Given the description of an element on the screen output the (x, y) to click on. 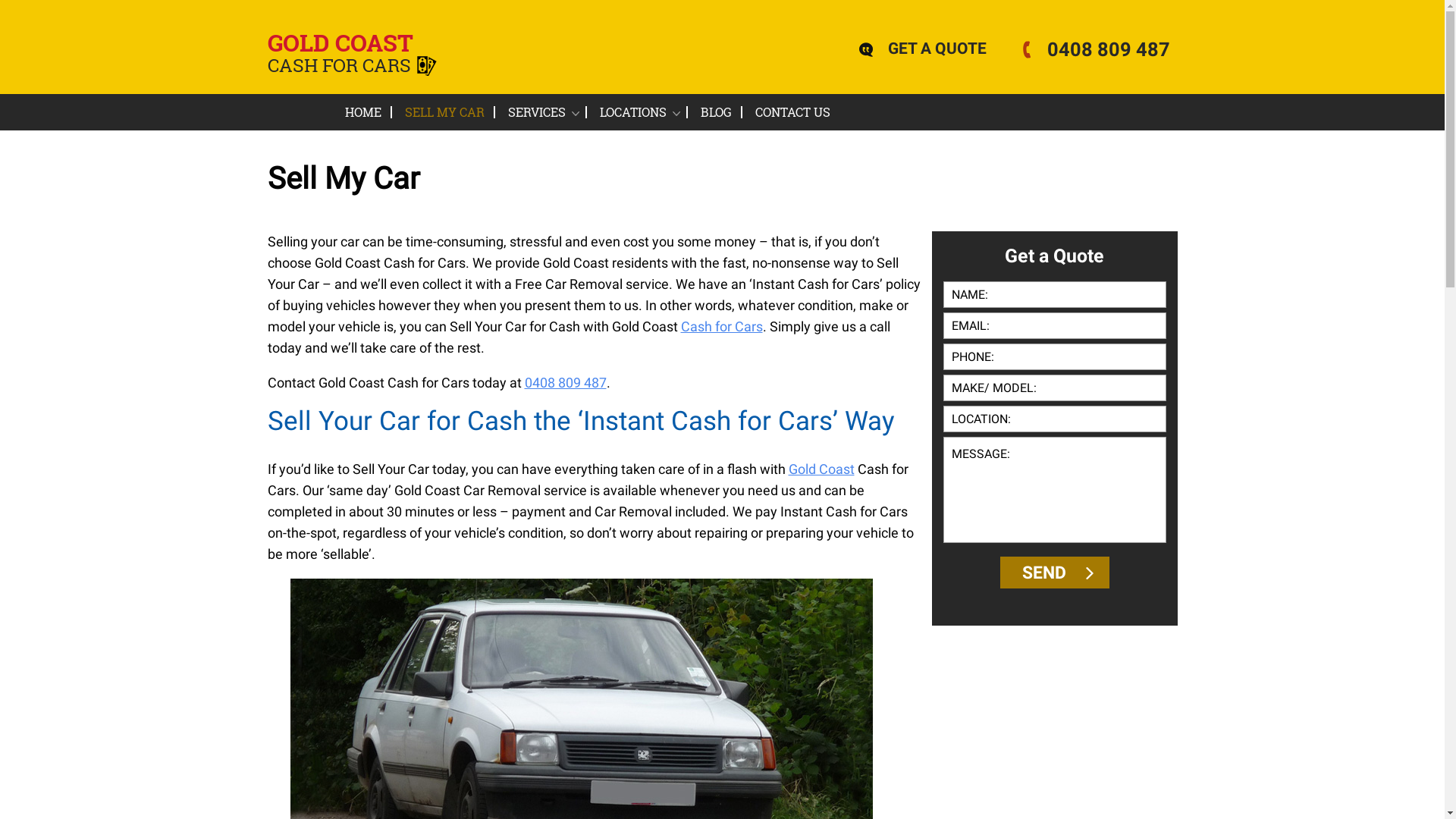
GET A QUOTE Element type: text (929, 49)
Send Element type: text (1053, 572)
Cash for Cars Element type: text (721, 326)
HOME Element type: text (366, 112)
0408 809 487 Element type: text (1096, 53)
SERVICES Element type: text (541, 112)
BLOG Element type: text (715, 112)
0408 809 487 Element type: text (565, 382)
Gold Coast Element type: text (821, 468)
CONTACT US Element type: text (787, 112)
LOCATIONS Element type: text (638, 112)
GOLD COAST
CASH FOR CARS Element type: text (348, 56)
SELL MY CAR Element type: text (443, 112)
